Given the description of an element on the screen output the (x, y) to click on. 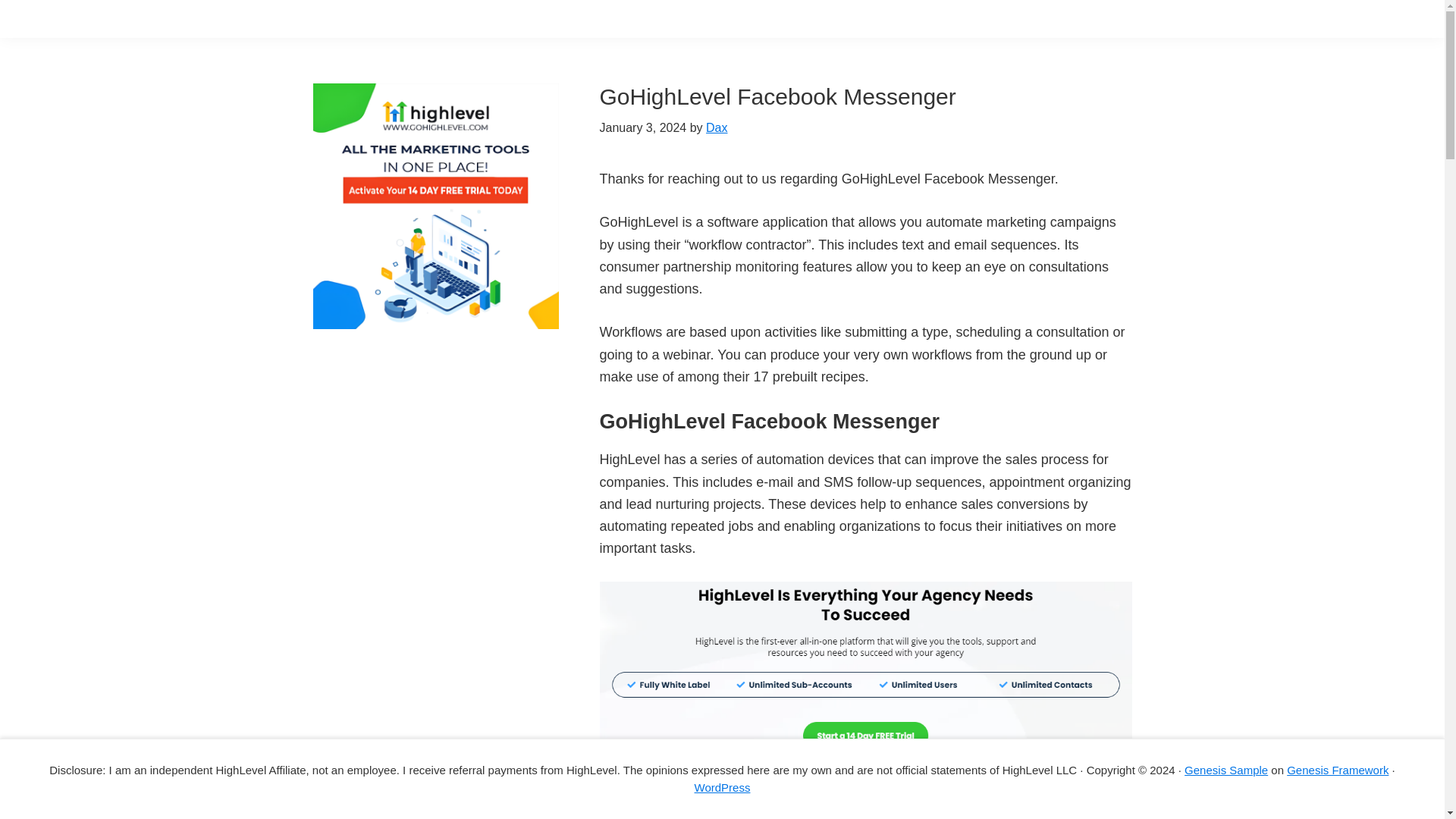
WordPress (722, 787)
Genesis Framework (1338, 769)
Genesis Sample (1226, 769)
Dax (716, 127)
